Given the description of an element on the screen output the (x, y) to click on. 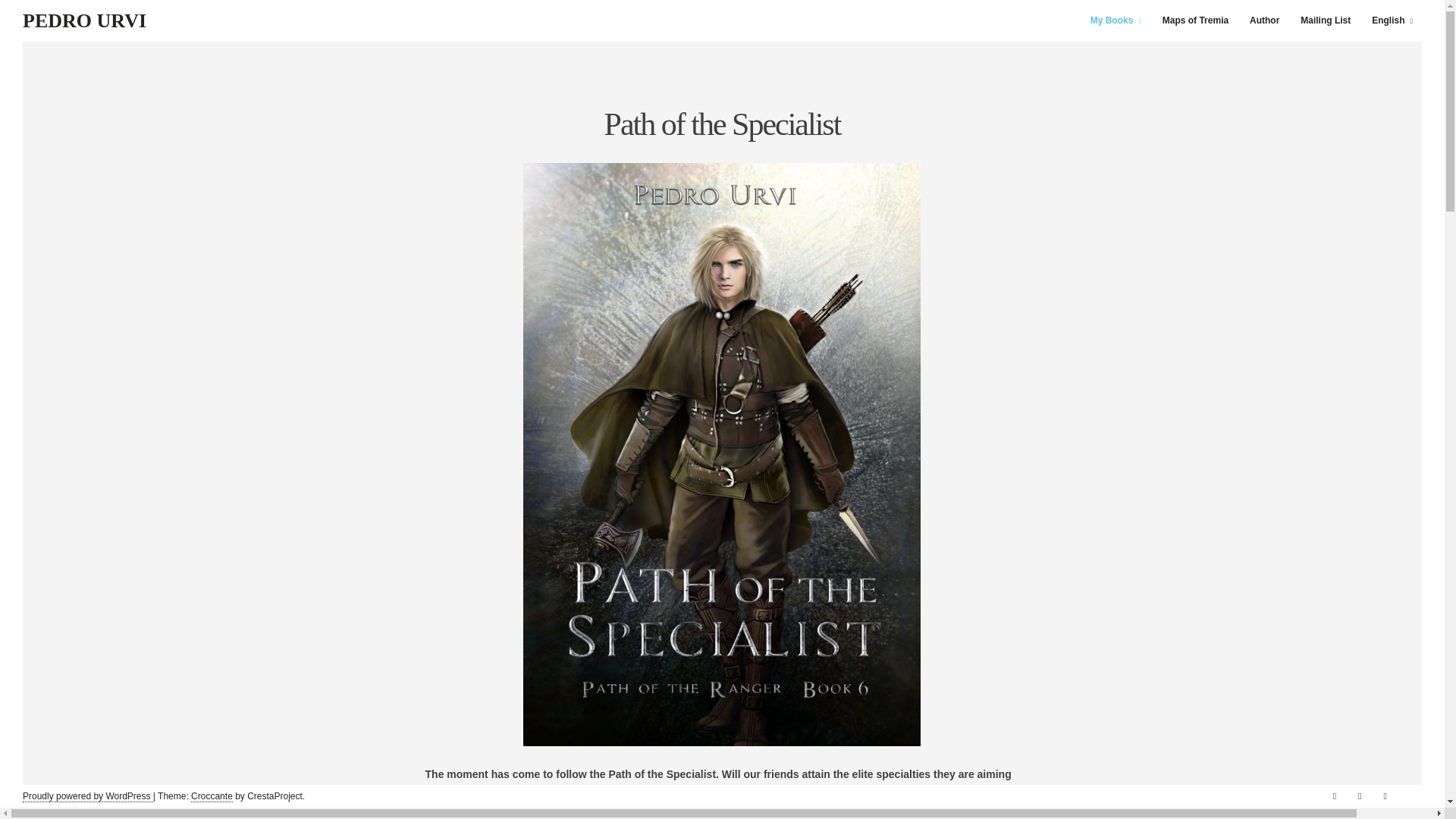
Mailing List (1325, 20)
English (1392, 20)
My Books (1115, 20)
Maps of Tremia (1195, 20)
PEDRO URVI (85, 20)
Author (1264, 20)
